Given the description of an element on the screen output the (x, y) to click on. 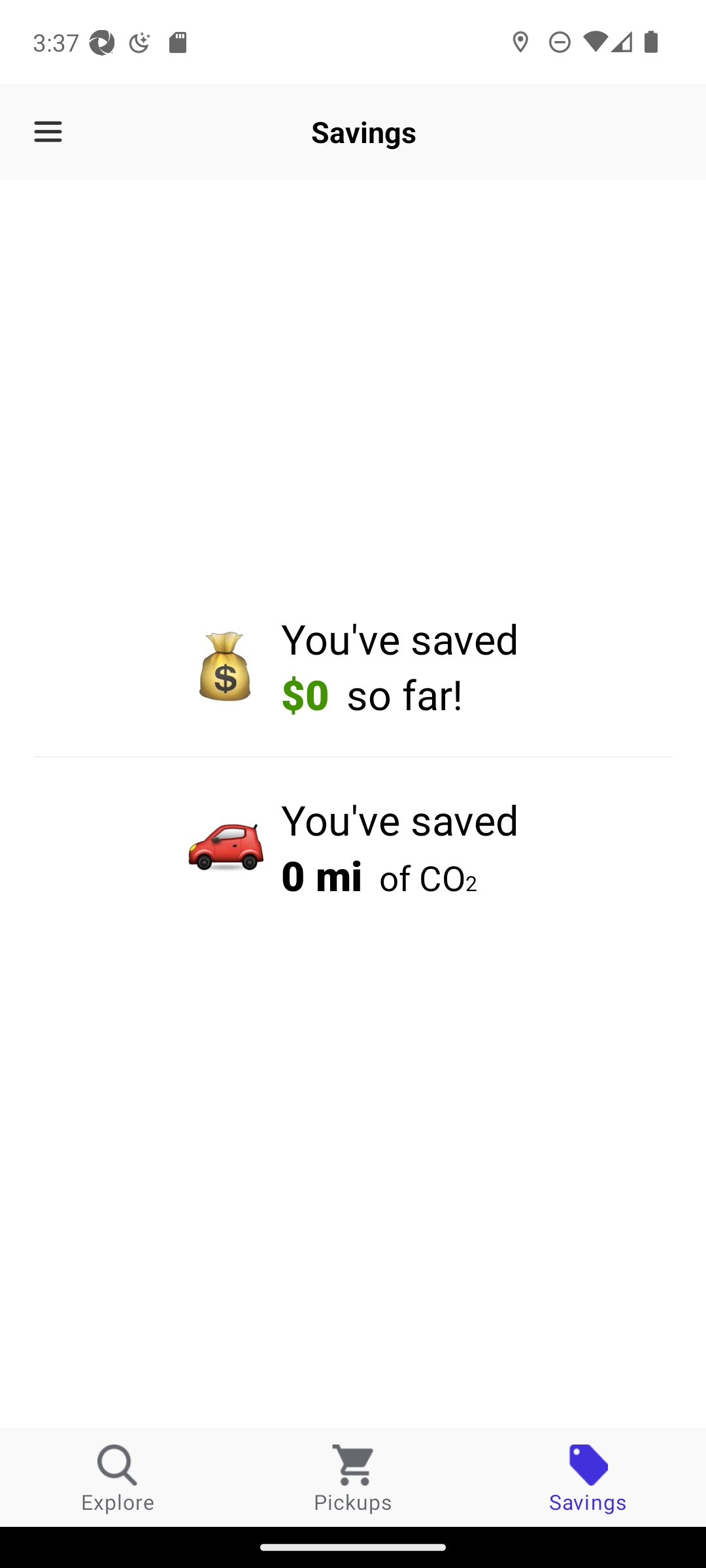
Navigate up (48, 131)
Explore (117, 1478)
Pickups (352, 1478)
